Given the description of an element on the screen output the (x, y) to click on. 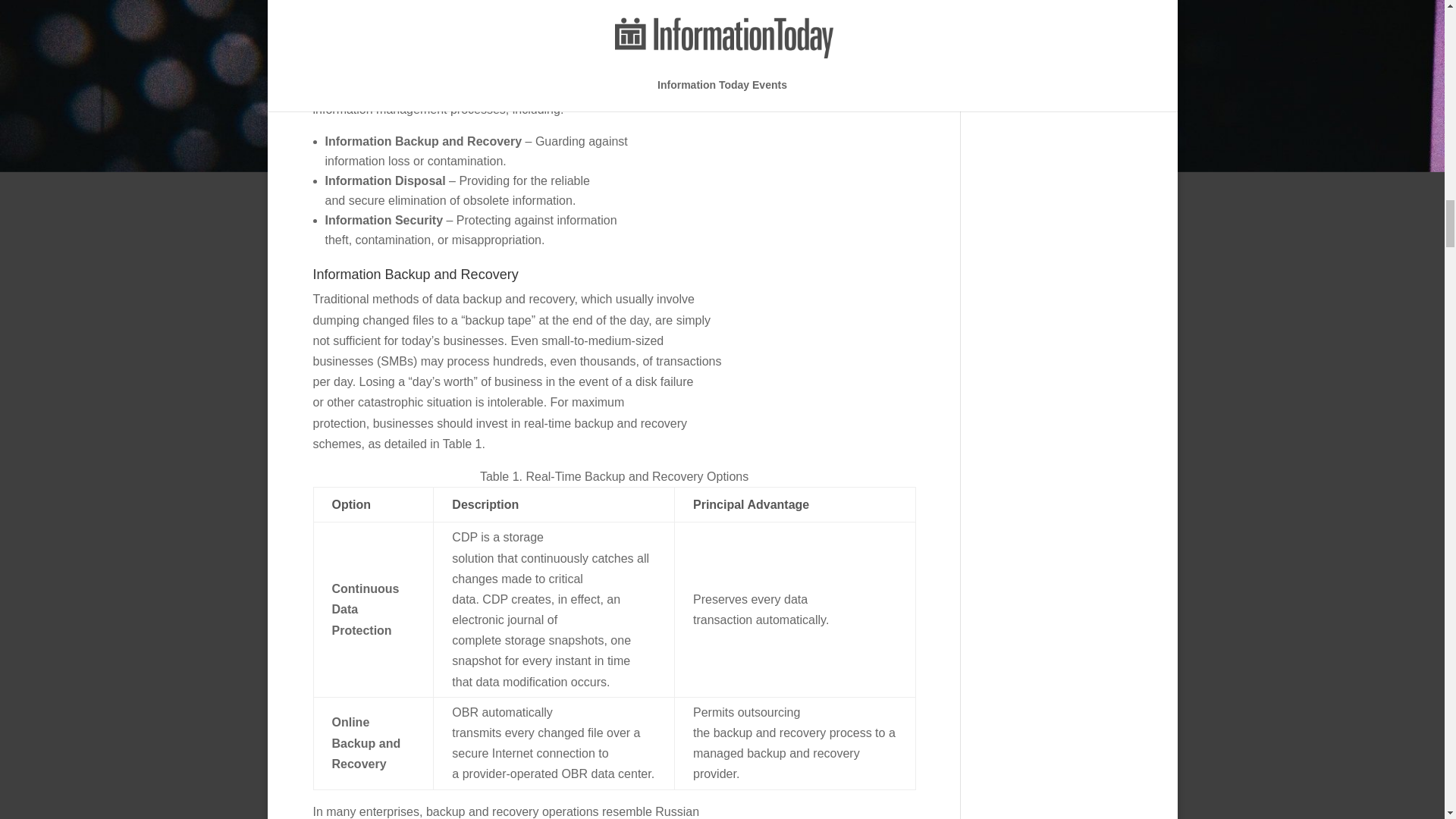
top (373, 15)
Return to top of page (373, 15)
